Given the description of an element on the screen output the (x, y) to click on. 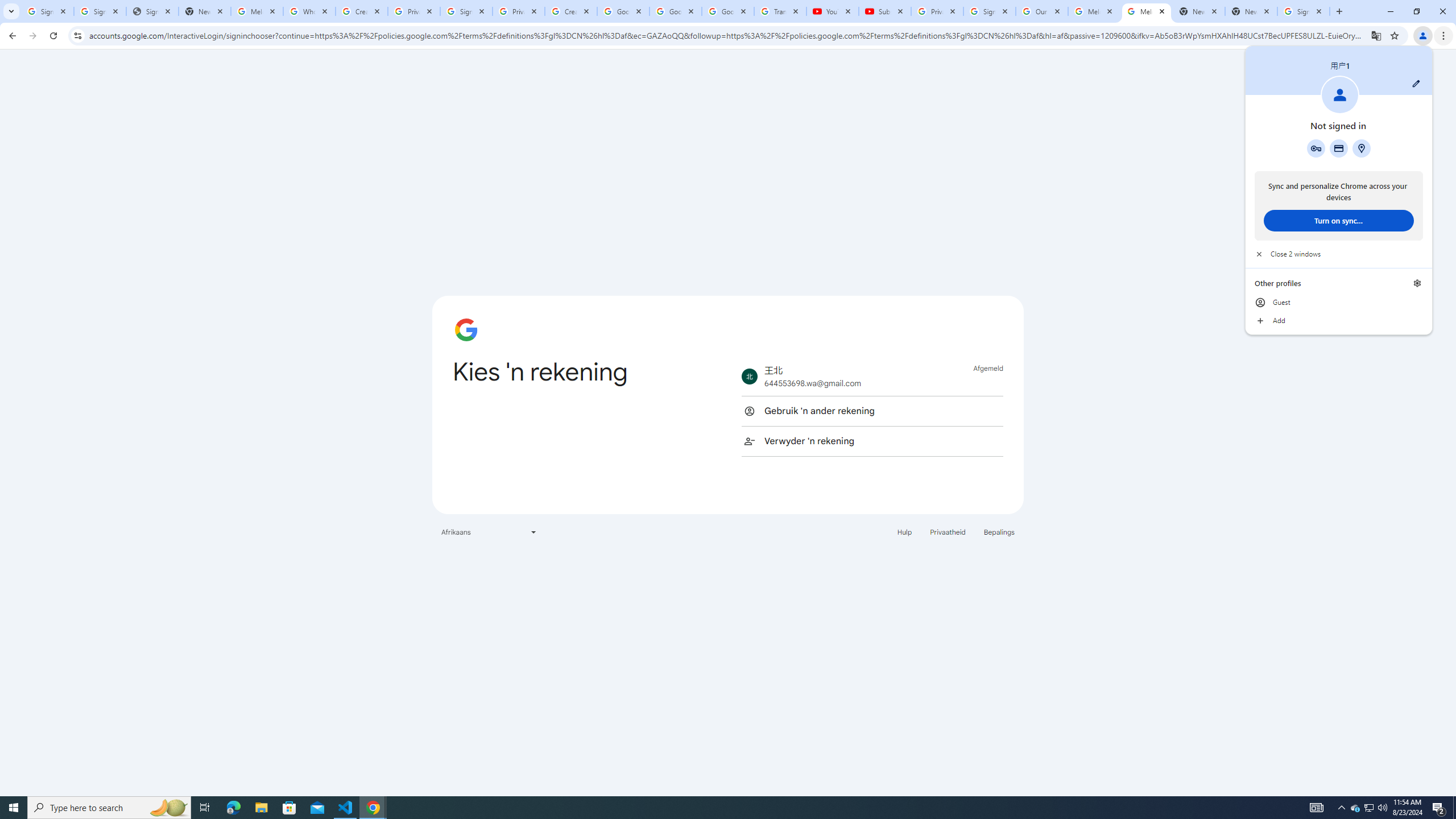
Customize profile (1415, 83)
